Given the description of an element on the screen output the (x, y) to click on. 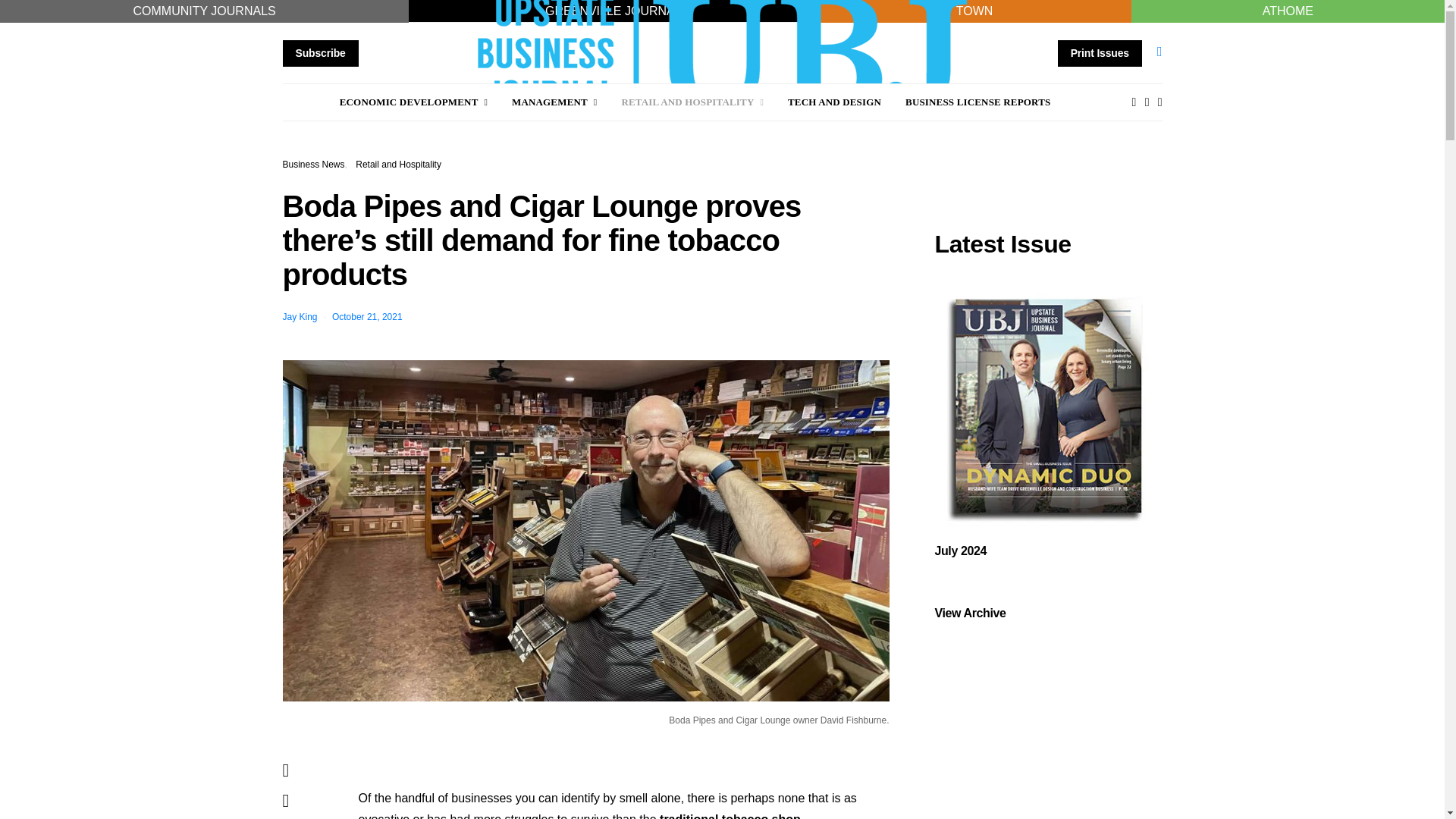
TOWN (973, 11)
ECONOMIC DEVELOPMENT (413, 102)
COMMUNITY JOURNALS (204, 11)
View all posts by Jay King (299, 317)
GREENVILLE JOURNAL (612, 11)
Subscribe (320, 52)
Print Issues (1099, 52)
MANAGEMENT (554, 102)
